Given the description of an element on the screen output the (x, y) to click on. 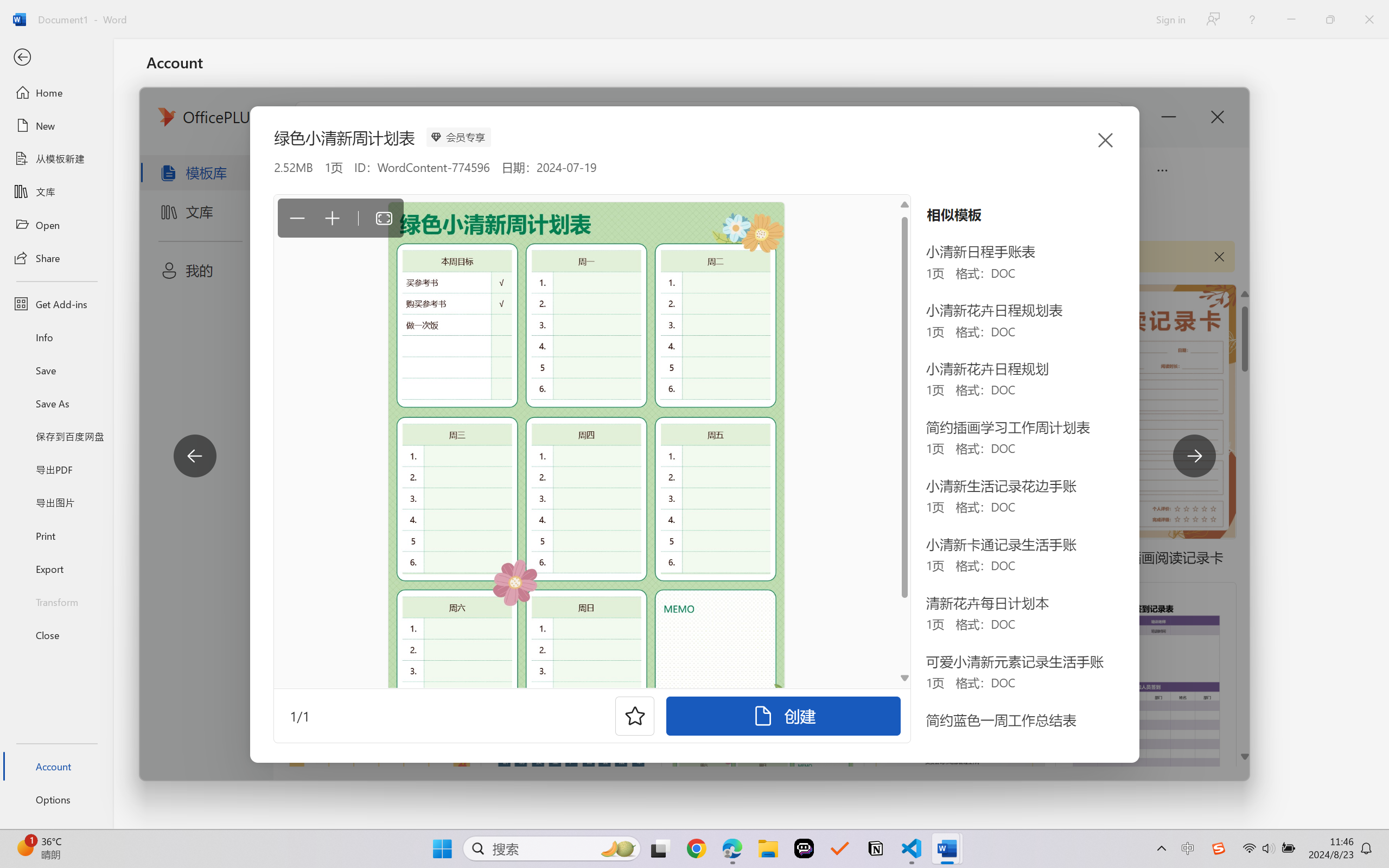
Back (56, 57)
Info (56, 337)
Transform (56, 601)
